Given the description of an element on the screen output the (x, y) to click on. 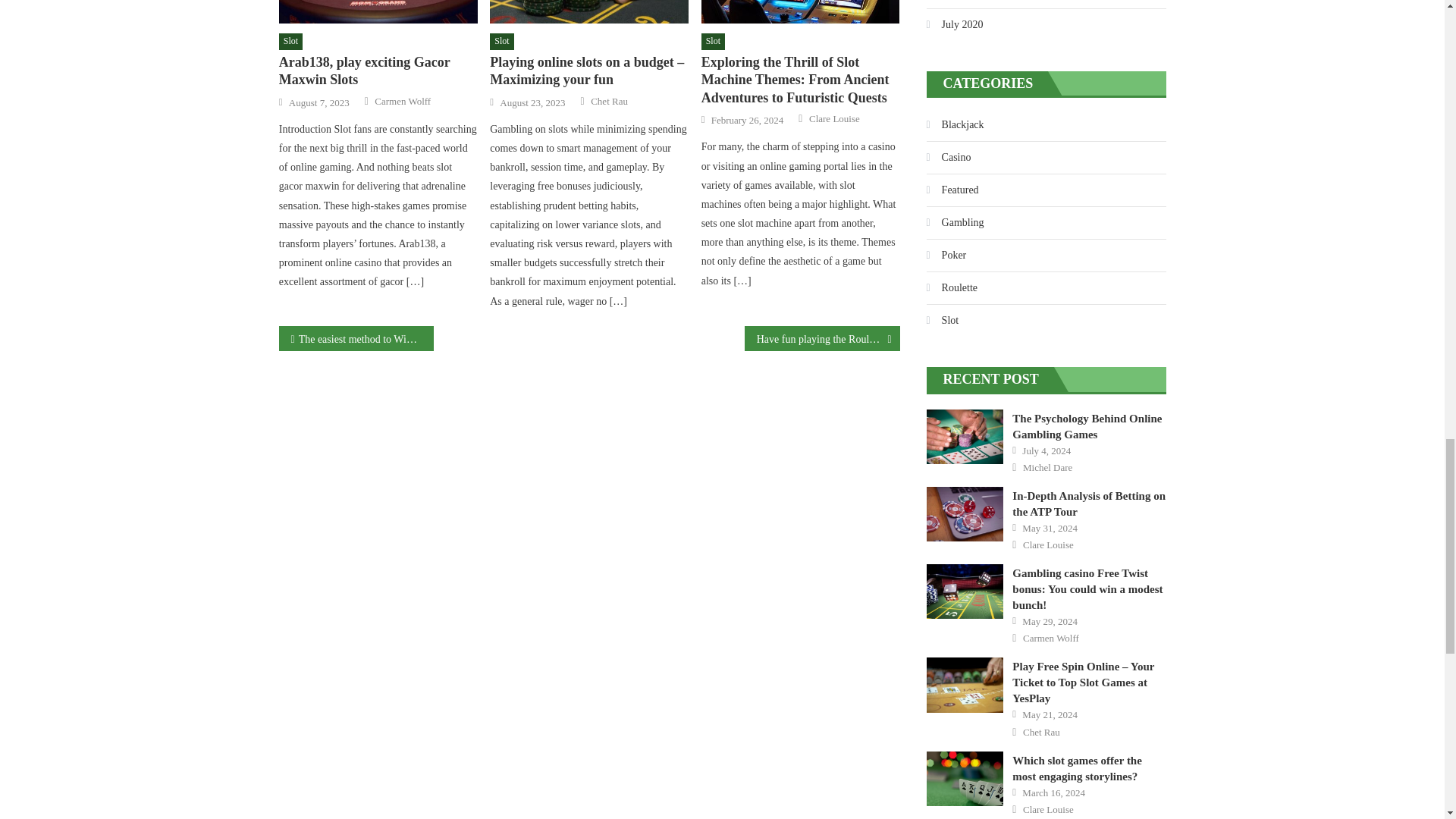
Clare Louise (834, 119)
August 7, 2023 (318, 102)
Arab138, play exciting Gacor Maxwin Slots (378, 71)
Carmen Wolff (402, 101)
Slot (501, 41)
The Psychology Behind Online Gambling Games (964, 436)
Slot (290, 41)
In-Depth Analysis of Betting on the ATP Tour (964, 513)
August 23, 2023 (531, 102)
Arab138, play exciting Gacor Maxwin Slots (378, 12)
Chet Rau (609, 101)
Slot (713, 41)
